Given the description of an element on the screen output the (x, y) to click on. 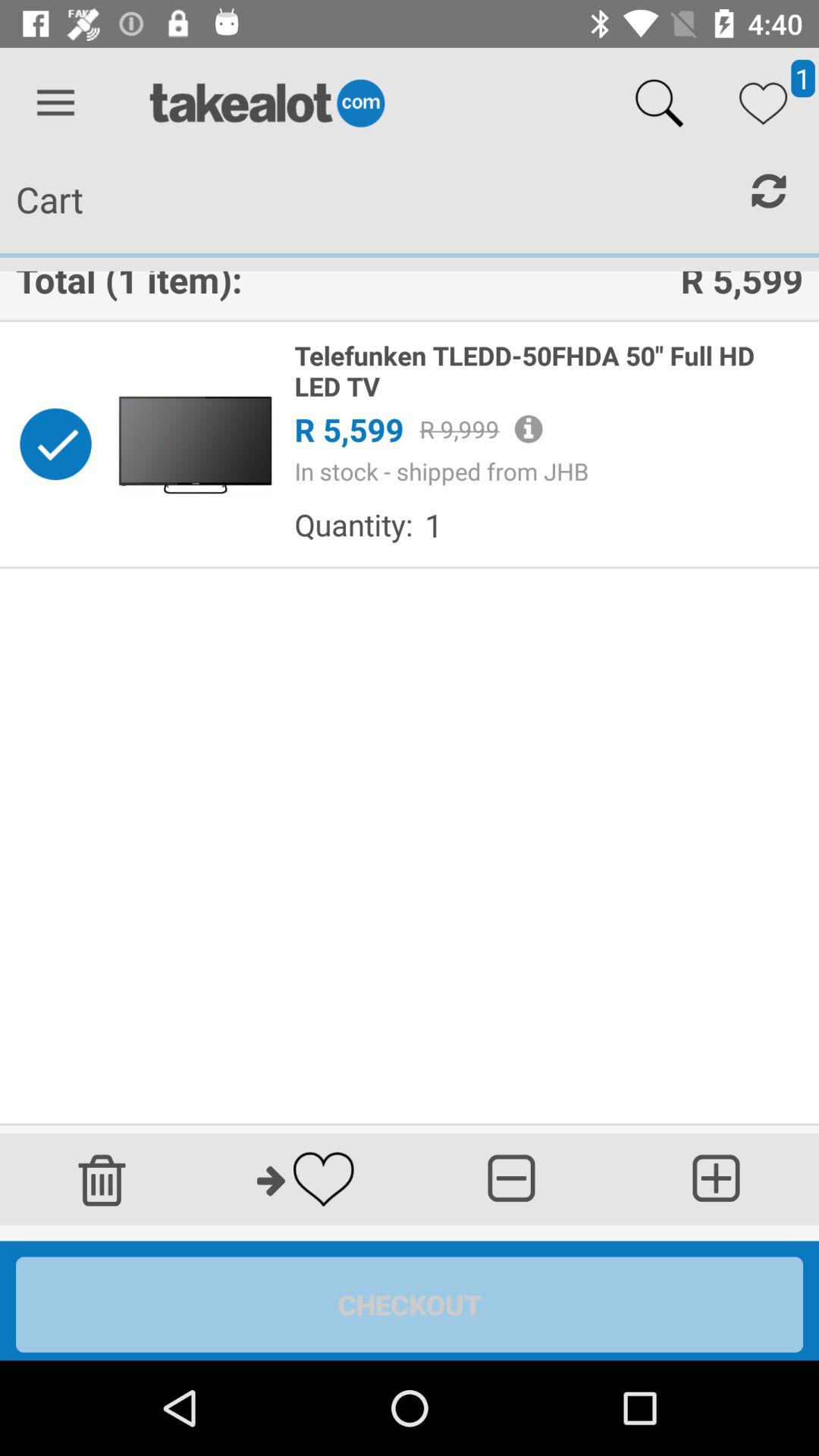
turn on the item above cart icon (55, 103)
